Given the description of an element on the screen output the (x, y) to click on. 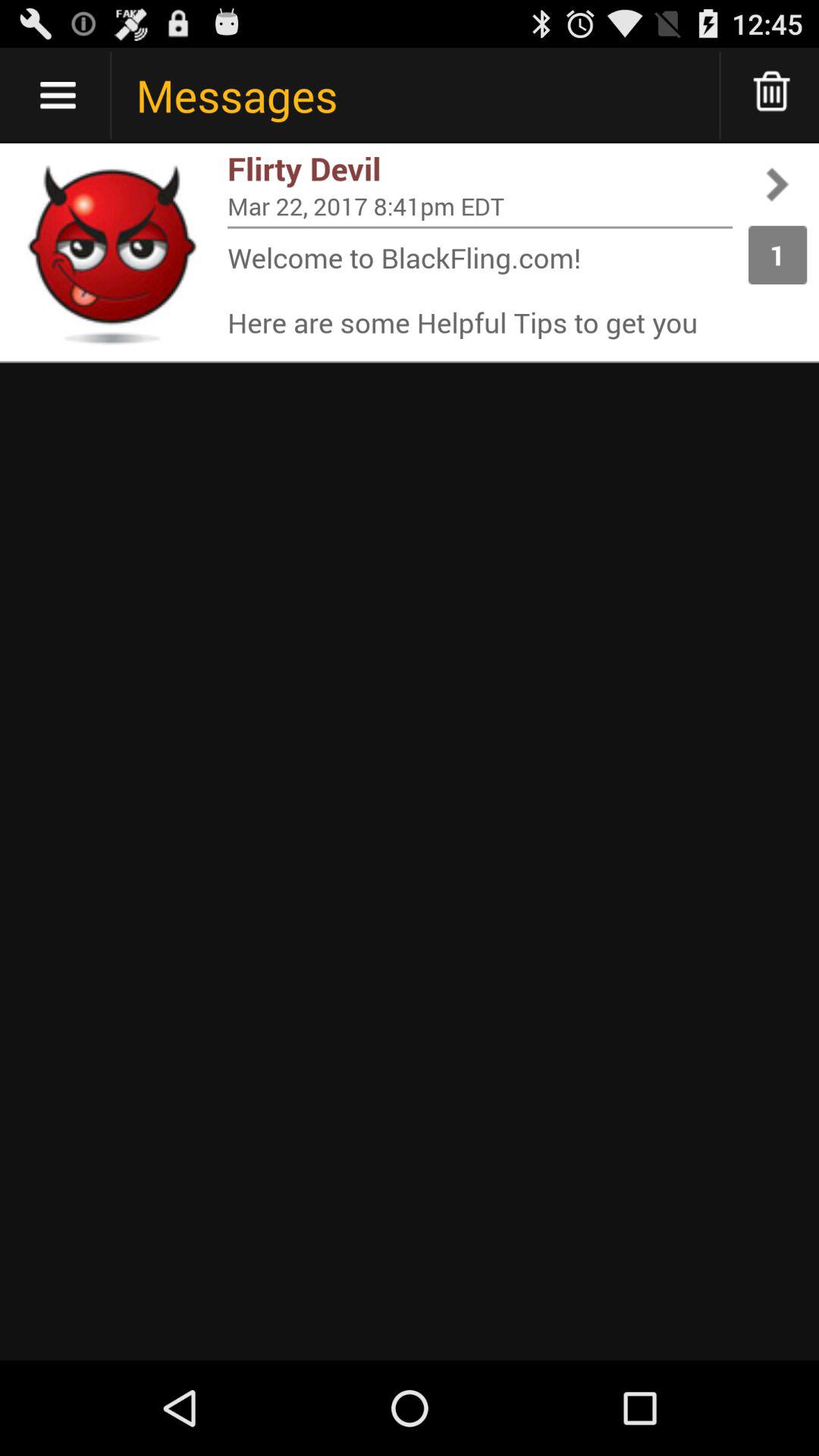
press the app below the mar 22 2017 icon (479, 227)
